Given the description of an element on the screen output the (x, y) to click on. 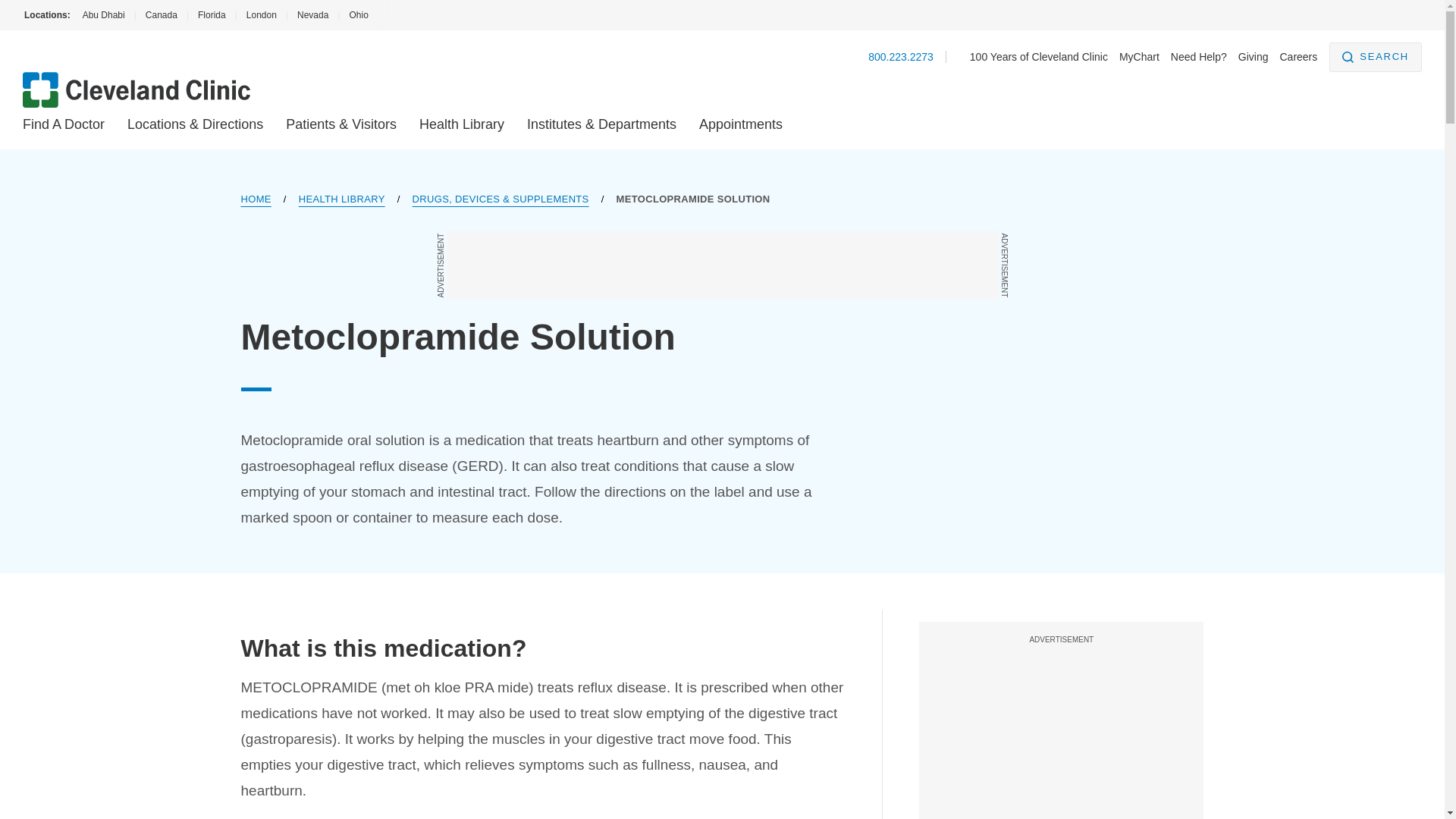
Need Help? (1198, 56)
Appointments (740, 124)
Giving (1253, 56)
Careers (1298, 56)
London (261, 15)
Canada (161, 15)
SEARCH (1375, 57)
Nevada (312, 15)
Florida (211, 15)
800.223.2273 (900, 56)
100 Years of Cleveland Clinic (1038, 56)
MyChart (1138, 56)
Ohio (358, 15)
HEALTH LIBRARY (341, 198)
Abu Dhabi (101, 15)
